Given the description of an element on the screen output the (x, y) to click on. 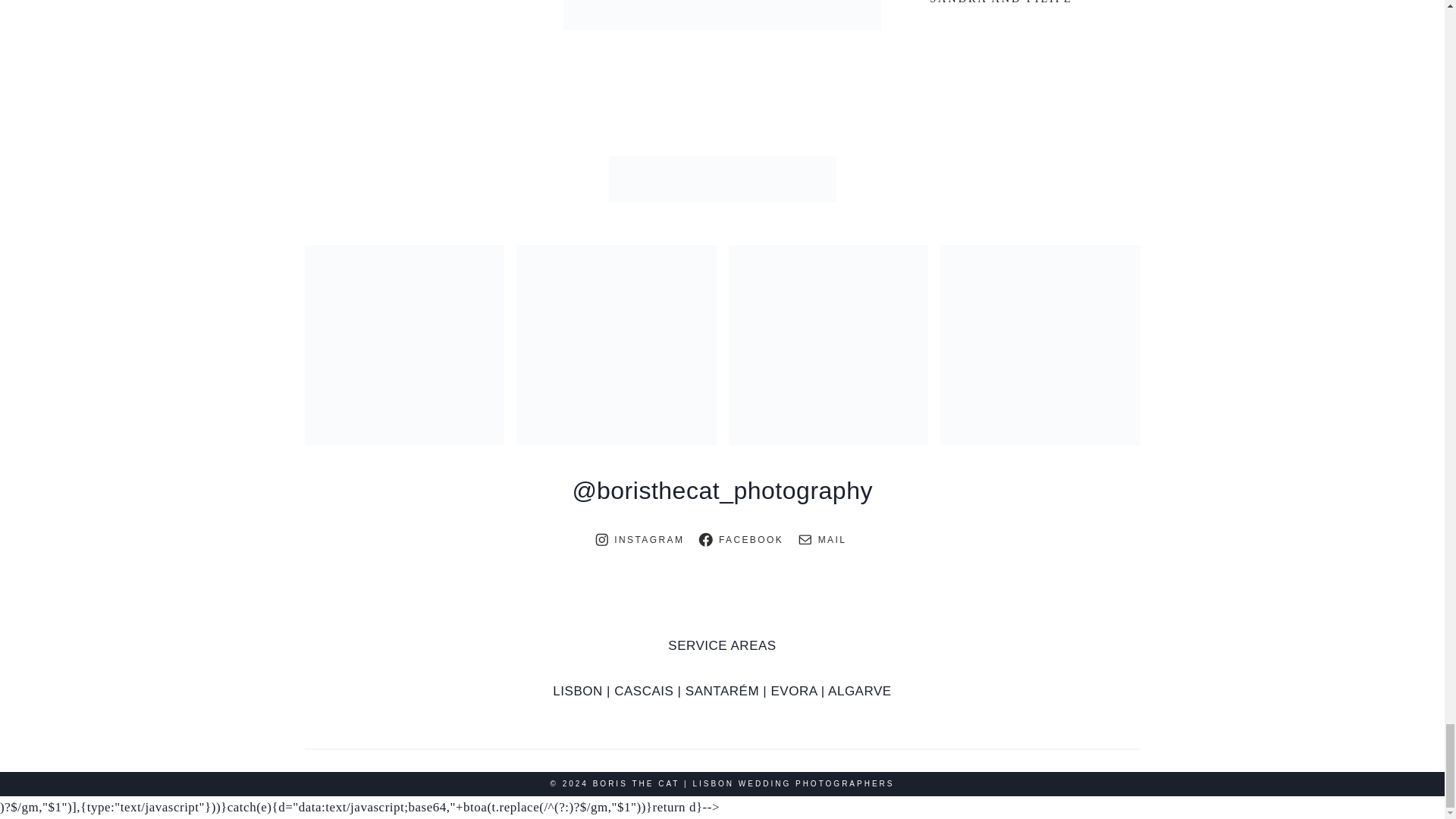
MAIL (823, 539)
FACEBOOK (742, 539)
LISBON (577, 690)
CASCAIS (643, 690)
ALGARVE (859, 690)
EVORA (793, 690)
INSTAGRAM (641, 539)
